Given the description of an element on the screen output the (x, y) to click on. 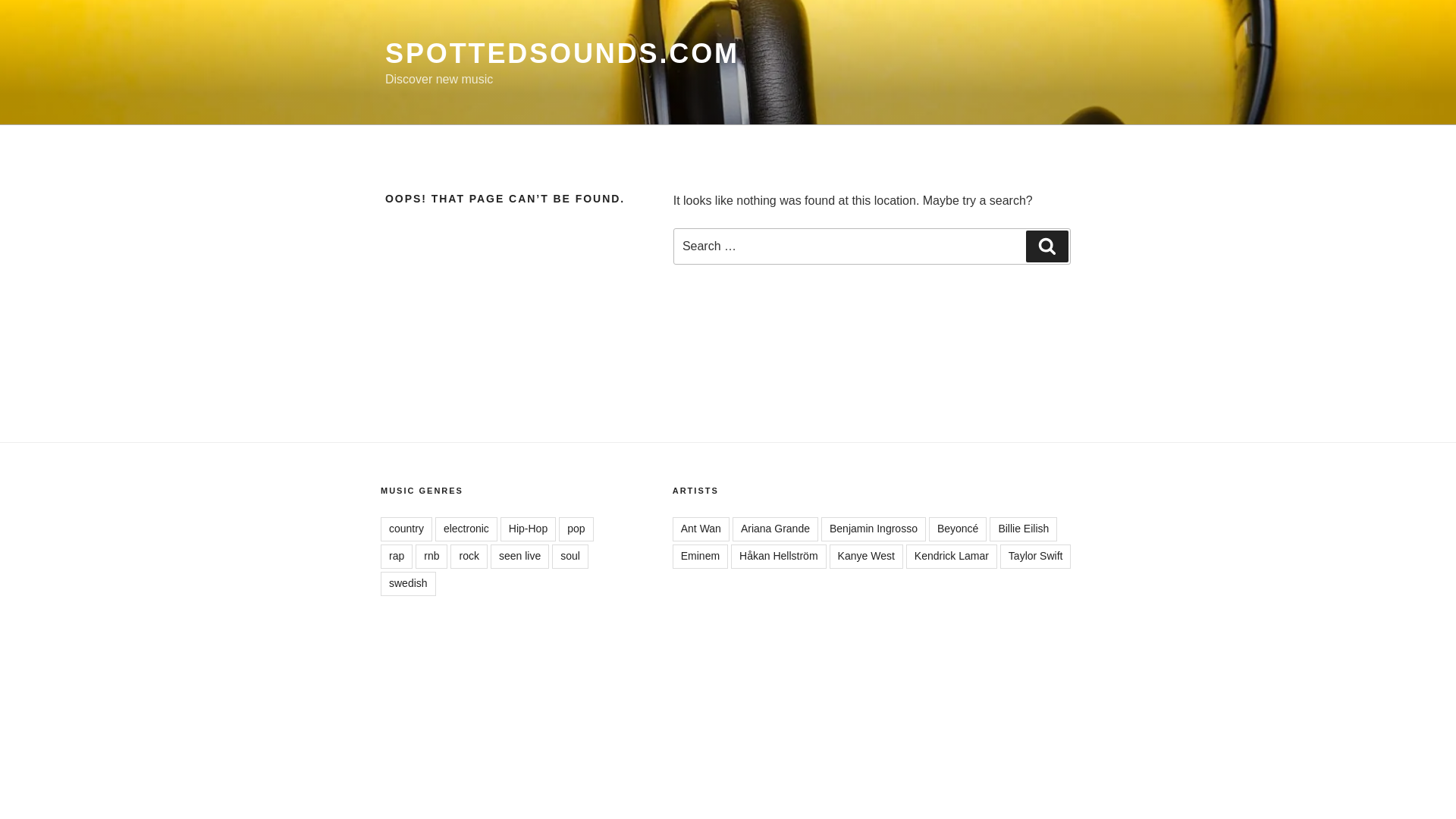
electronic (466, 528)
soul (569, 556)
country (406, 528)
SPOTTEDSOUNDS.COM (562, 52)
Billie Eilish (1023, 528)
rap (396, 556)
Benjamin Ingrosso (873, 528)
Ant Wan (700, 528)
rnb (430, 556)
Kendrick Lamar (951, 556)
